Given the description of an element on the screen output the (x, y) to click on. 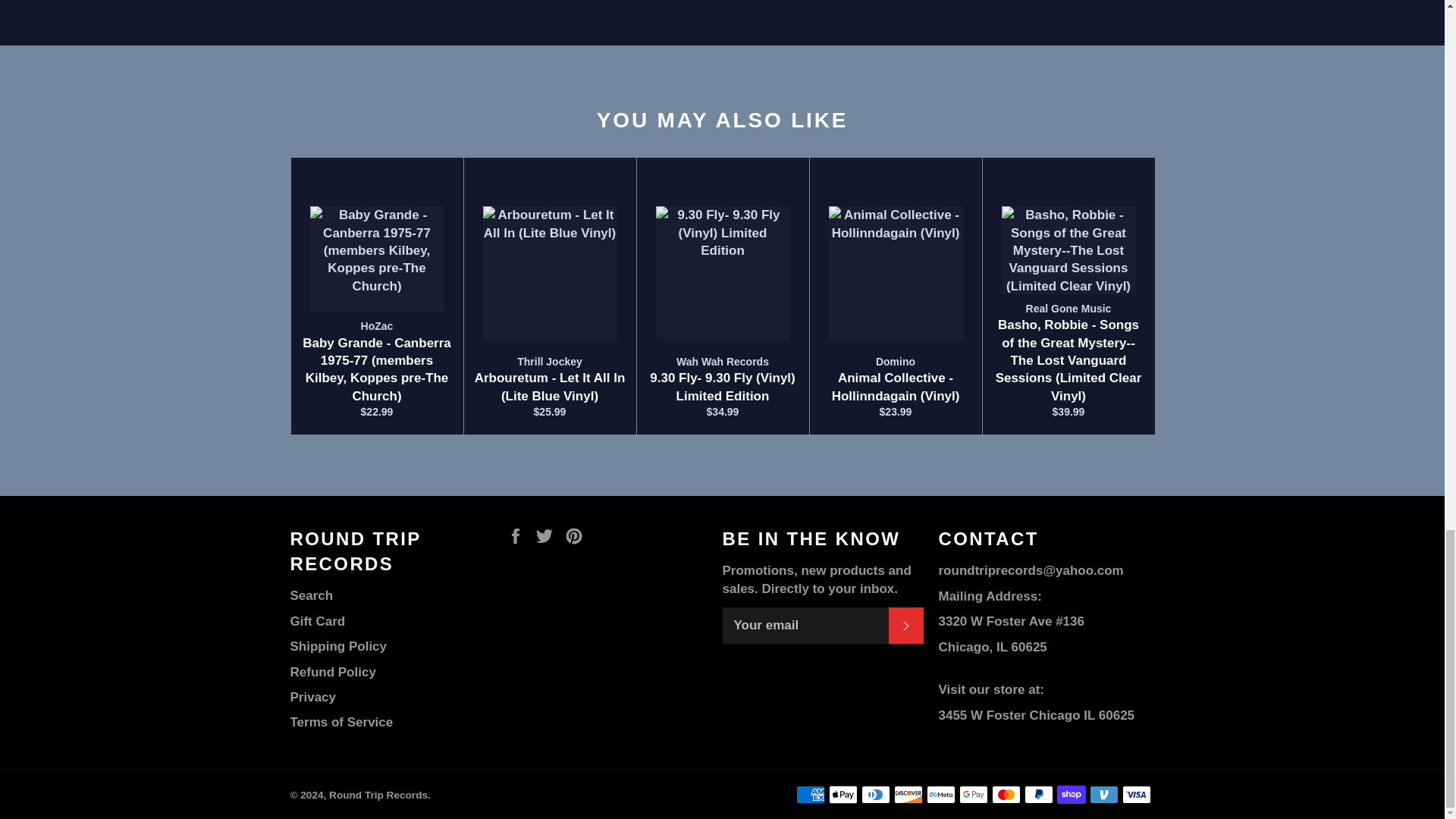
Round Trip Records on Twitter (547, 535)
Round Trip Records on Pinterest (577, 535)
Round Trip Records on Facebook (519, 535)
